Given the description of an element on the screen output the (x, y) to click on. 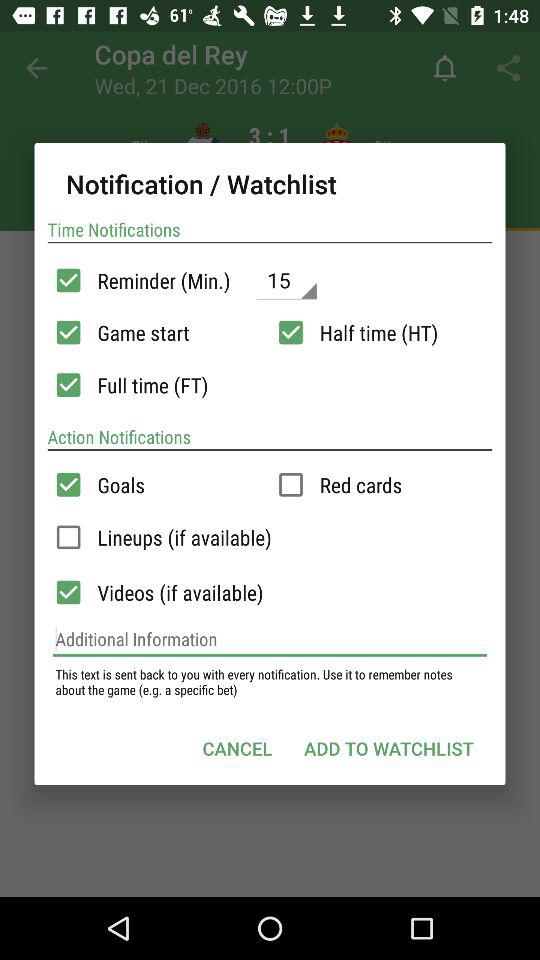
toggle red cards notification (290, 484)
